Given the description of an element on the screen output the (x, y) to click on. 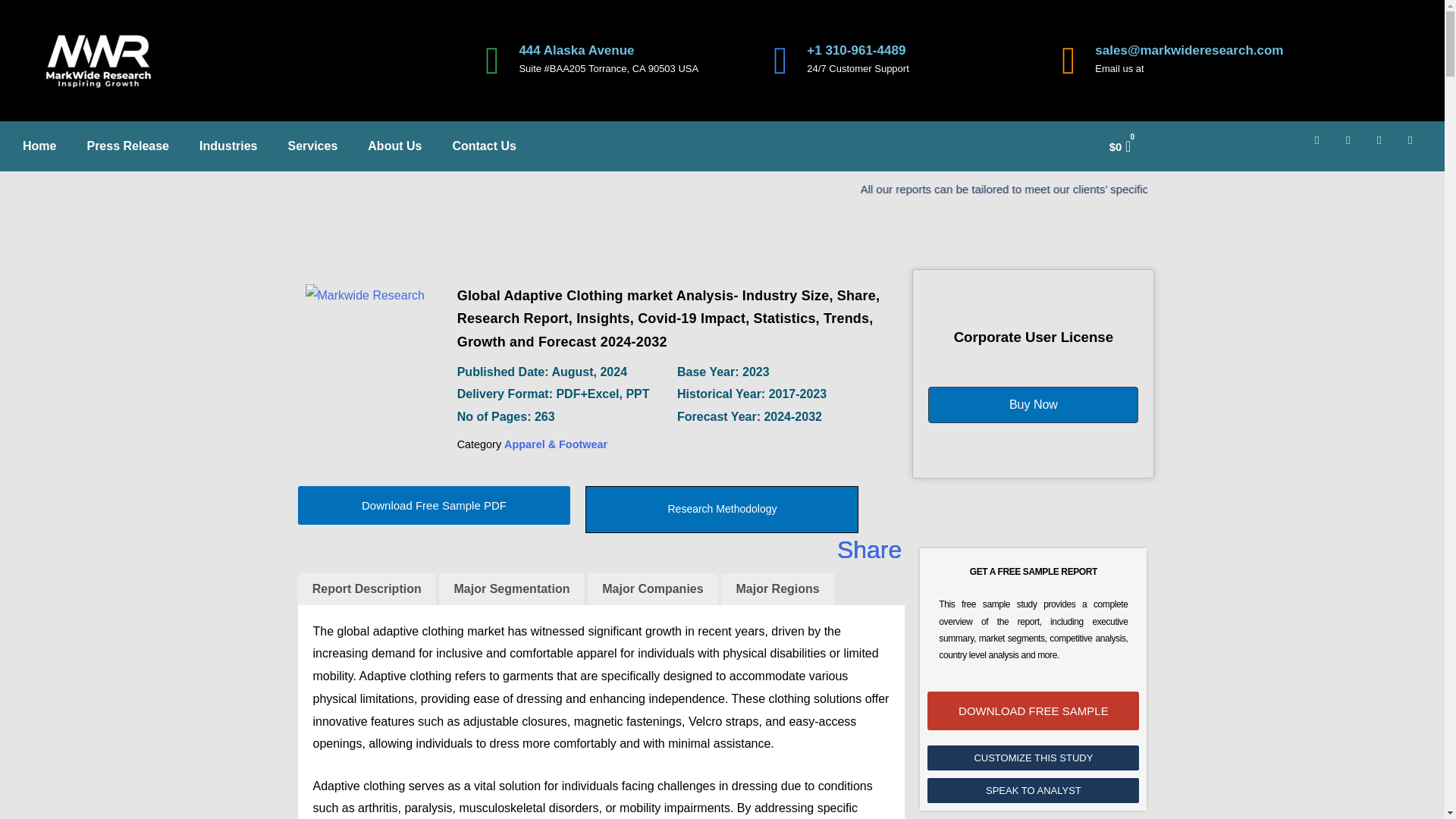
Facebook-f (1322, 146)
Contact Us (483, 145)
Industries (228, 145)
Services (312, 145)
Press Release (127, 145)
Home (39, 145)
About Us (394, 145)
Research Methodology (722, 509)
Linkedin-in (1353, 146)
Markwide Research (372, 352)
